Given the description of an element on the screen output the (x, y) to click on. 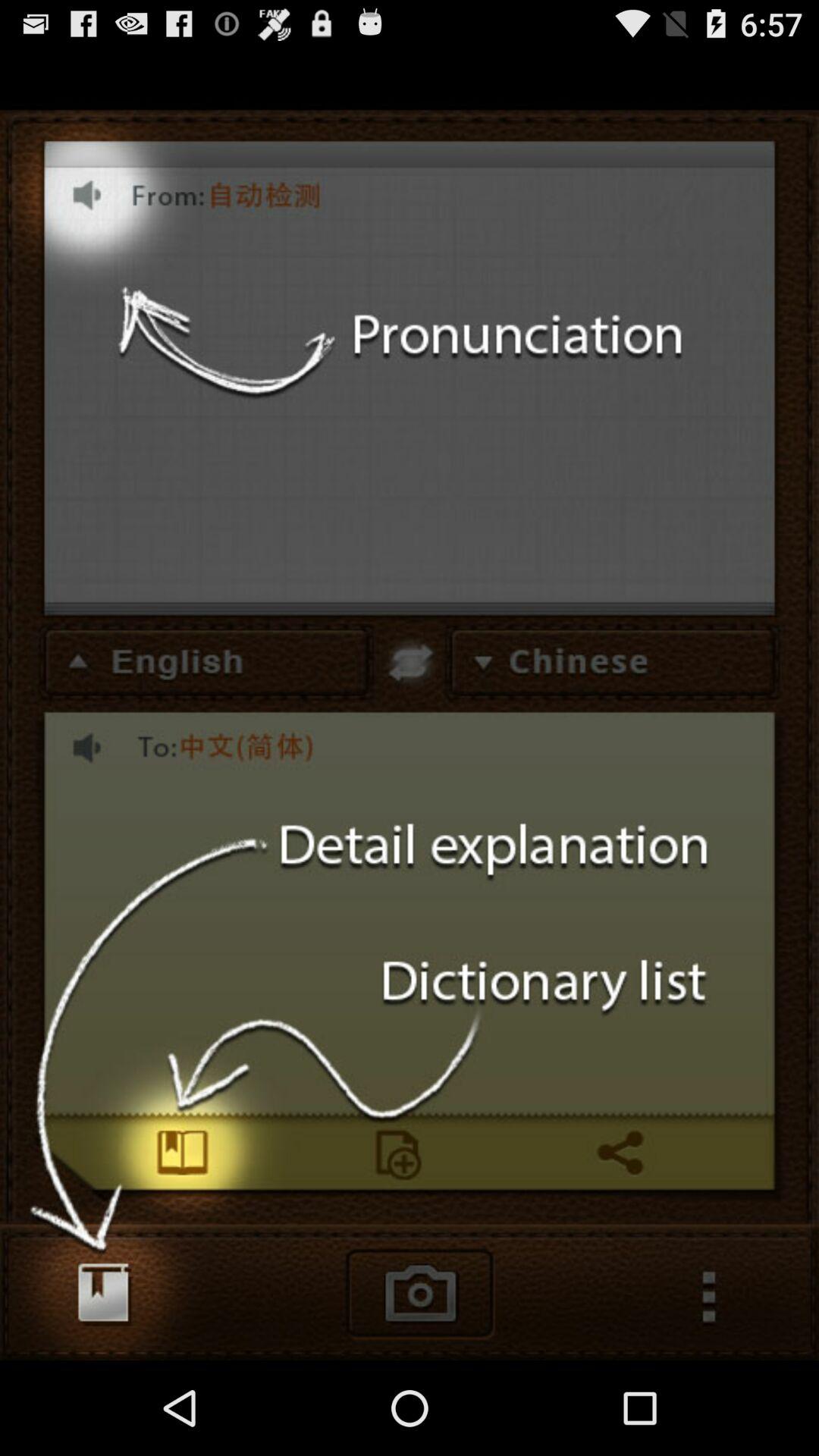
select the menu at the bottom of the page (717, 1311)
select the text which is to the immediate left of chinese (191, 654)
